Given the description of an element on the screen output the (x, y) to click on. 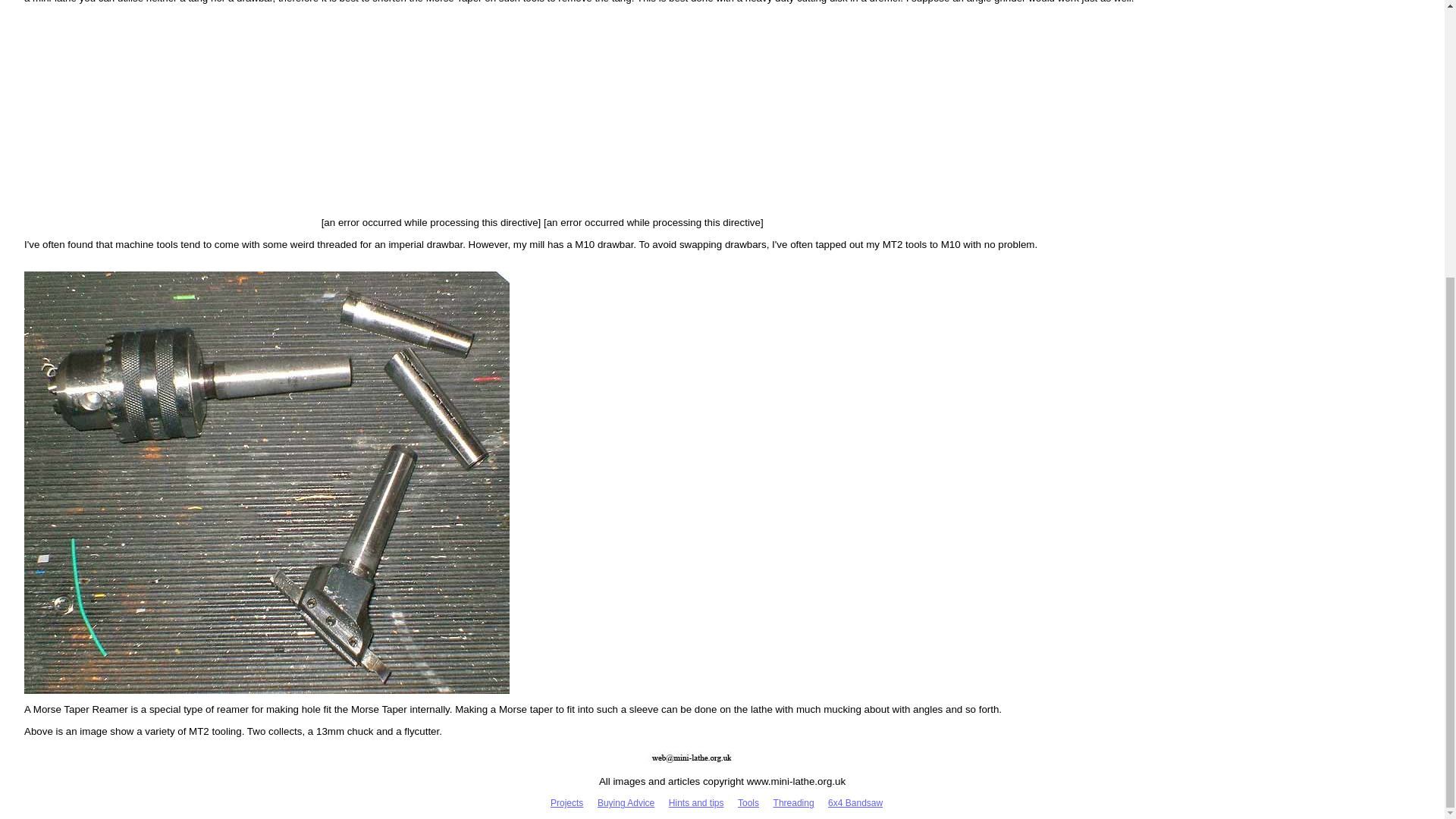
Threading (793, 802)
Tools (748, 802)
Buying Advice (624, 802)
Advertisement (892, 119)
Hints and tips (695, 802)
Projects (566, 802)
6x4 Bandsaw (855, 802)
